Given the description of an element on the screen output the (x, y) to click on. 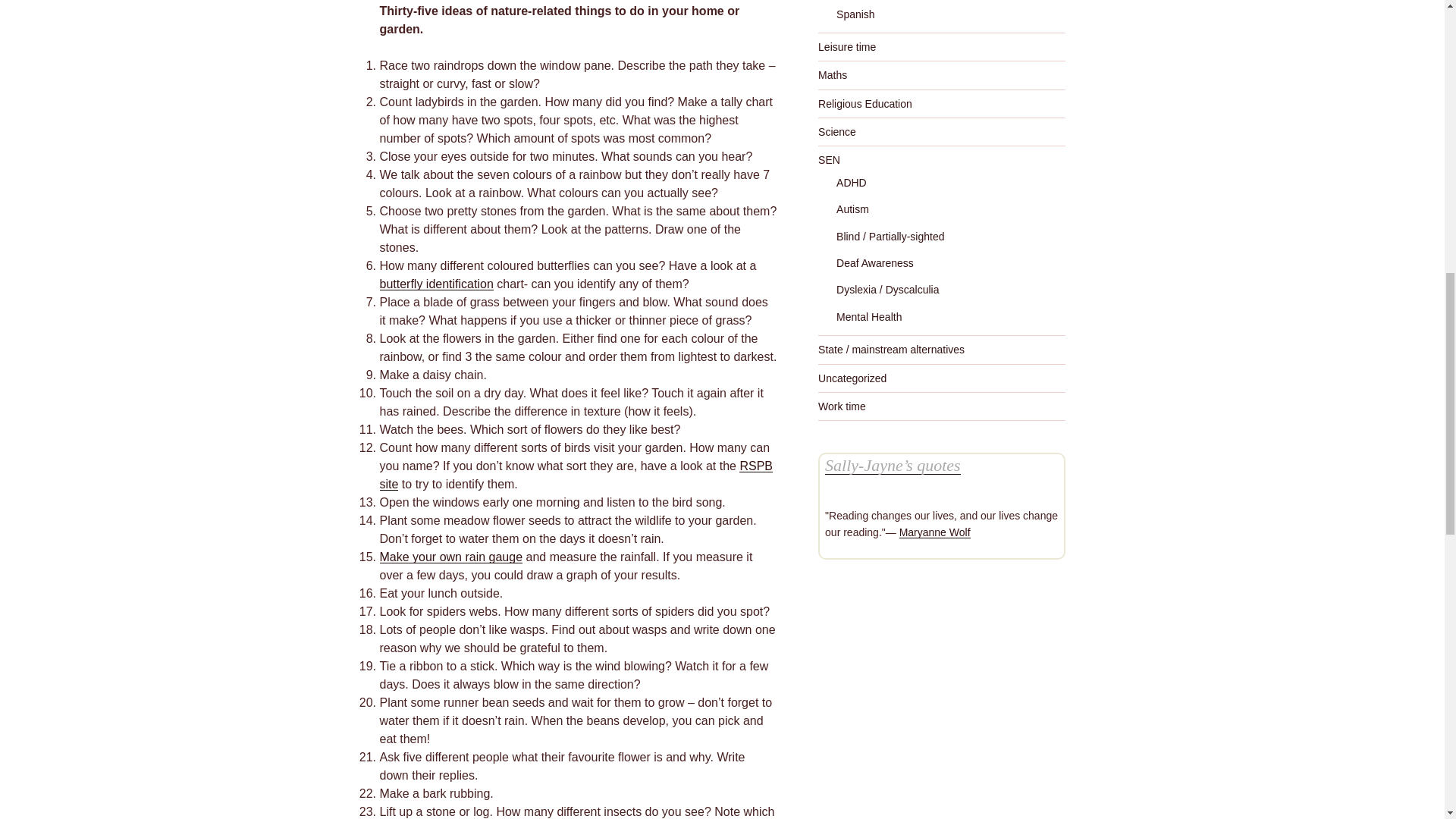
Maryanne Wolf quotes (935, 532)
RSPB site (575, 474)
butterfly identification (435, 283)
Make your own rain gauge (450, 556)
